Given the description of an element on the screen output the (x, y) to click on. 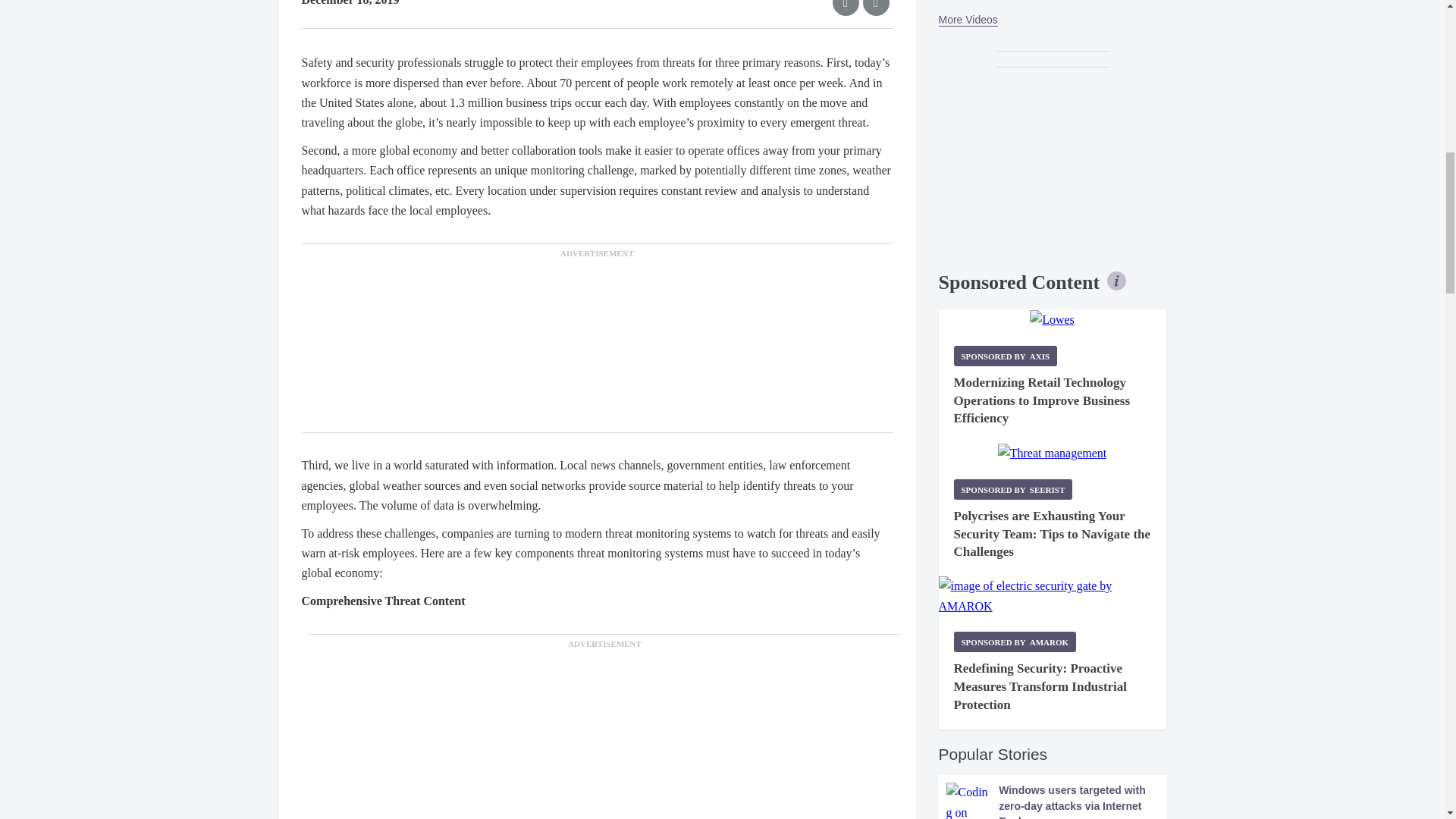
AMAROK Security Gate (1052, 596)
Sponsored by AMAROK (1015, 641)
Threat management (1051, 453)
Sponsored by Seerist (1013, 489)
Sponsored by Axis (1005, 355)
Lowes (1051, 320)
